Given the description of an element on the screen output the (x, y) to click on. 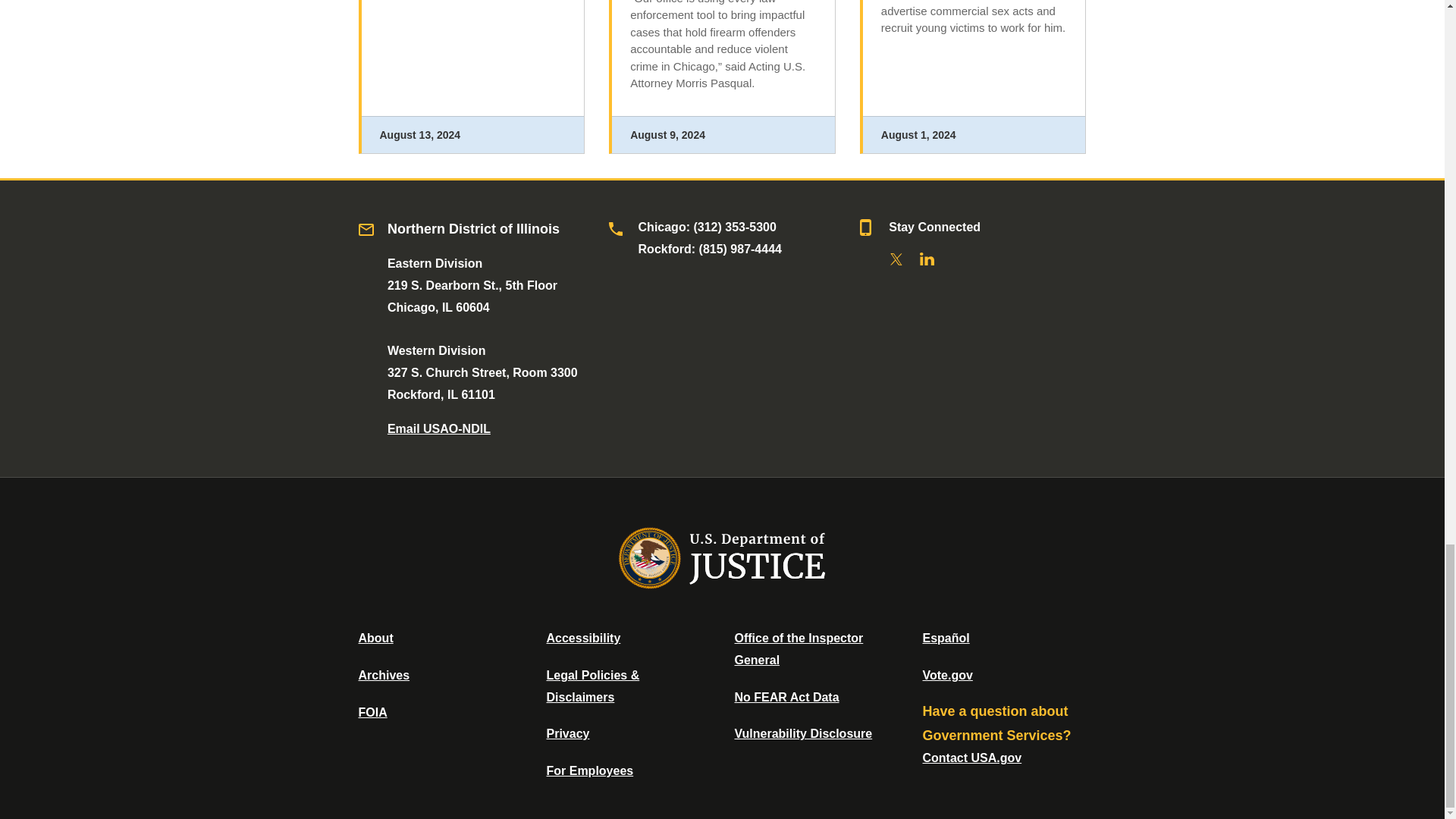
Department of Justice Archive (383, 675)
Data Posted Pursuant To The No Fear Act (785, 697)
Legal Policies and Disclaimers (592, 686)
Office of Information Policy (372, 712)
About DOJ (375, 637)
For Employees (589, 770)
Accessibility Statement (583, 637)
